Given the description of an element on the screen output the (x, y) to click on. 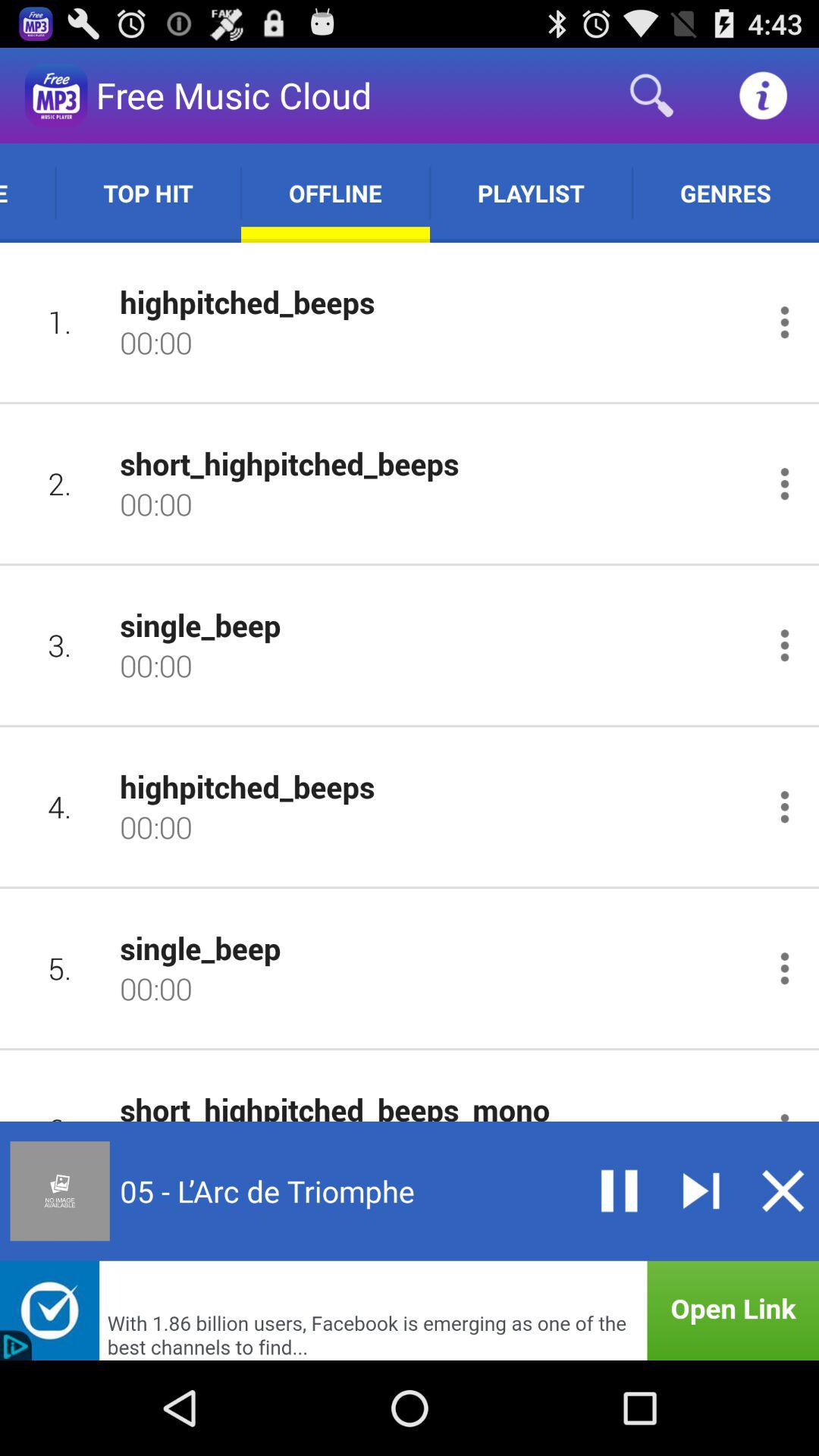
tap app to the right of the top hit (335, 192)
